Given the description of an element on the screen output the (x, y) to click on. 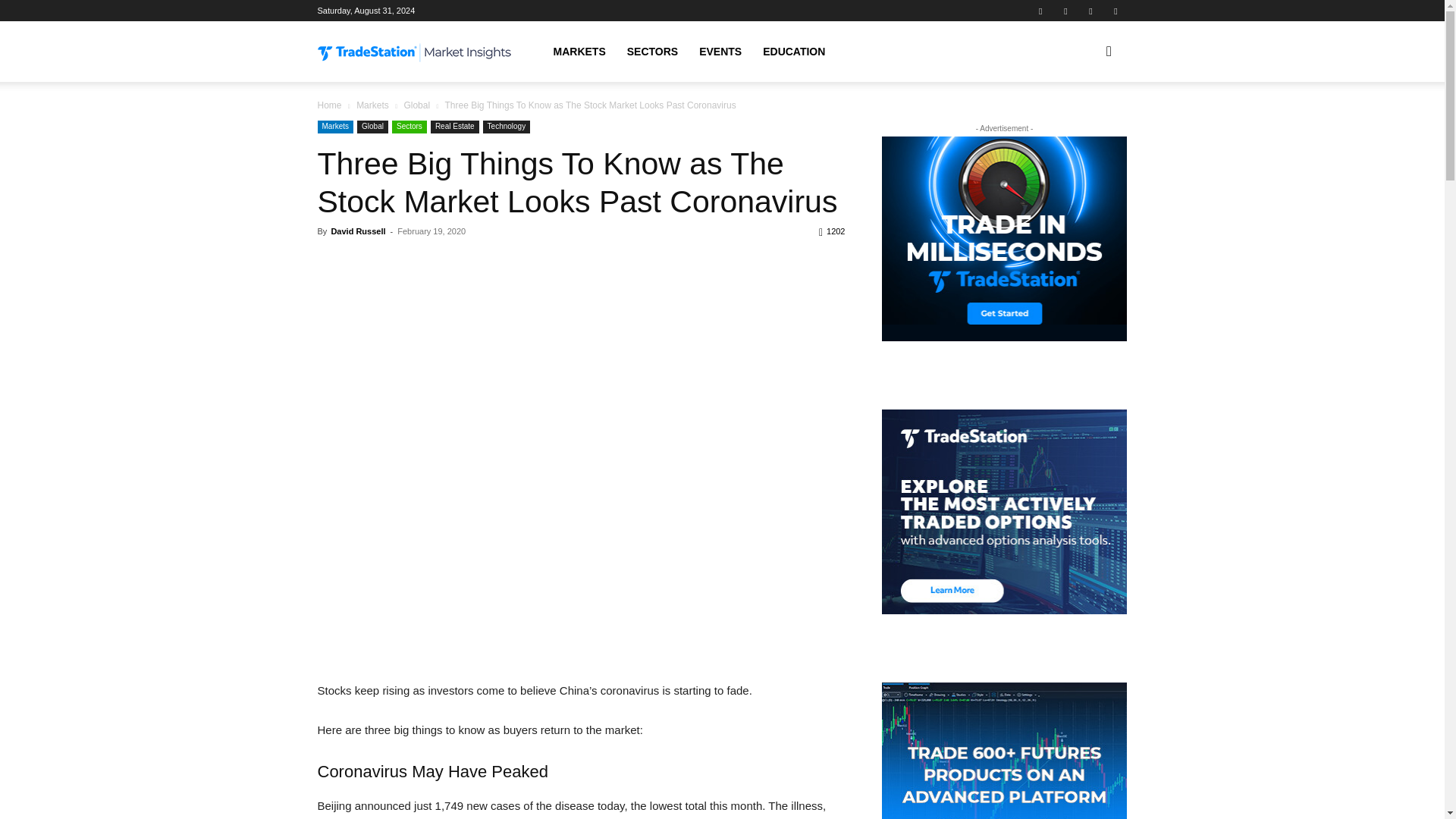
Twitter (1090, 10)
Linkedin (1065, 10)
Facebook (1040, 10)
TradeStation Market Insights (414, 52)
Youtube (1114, 10)
